Given the description of an element on the screen output the (x, y) to click on. 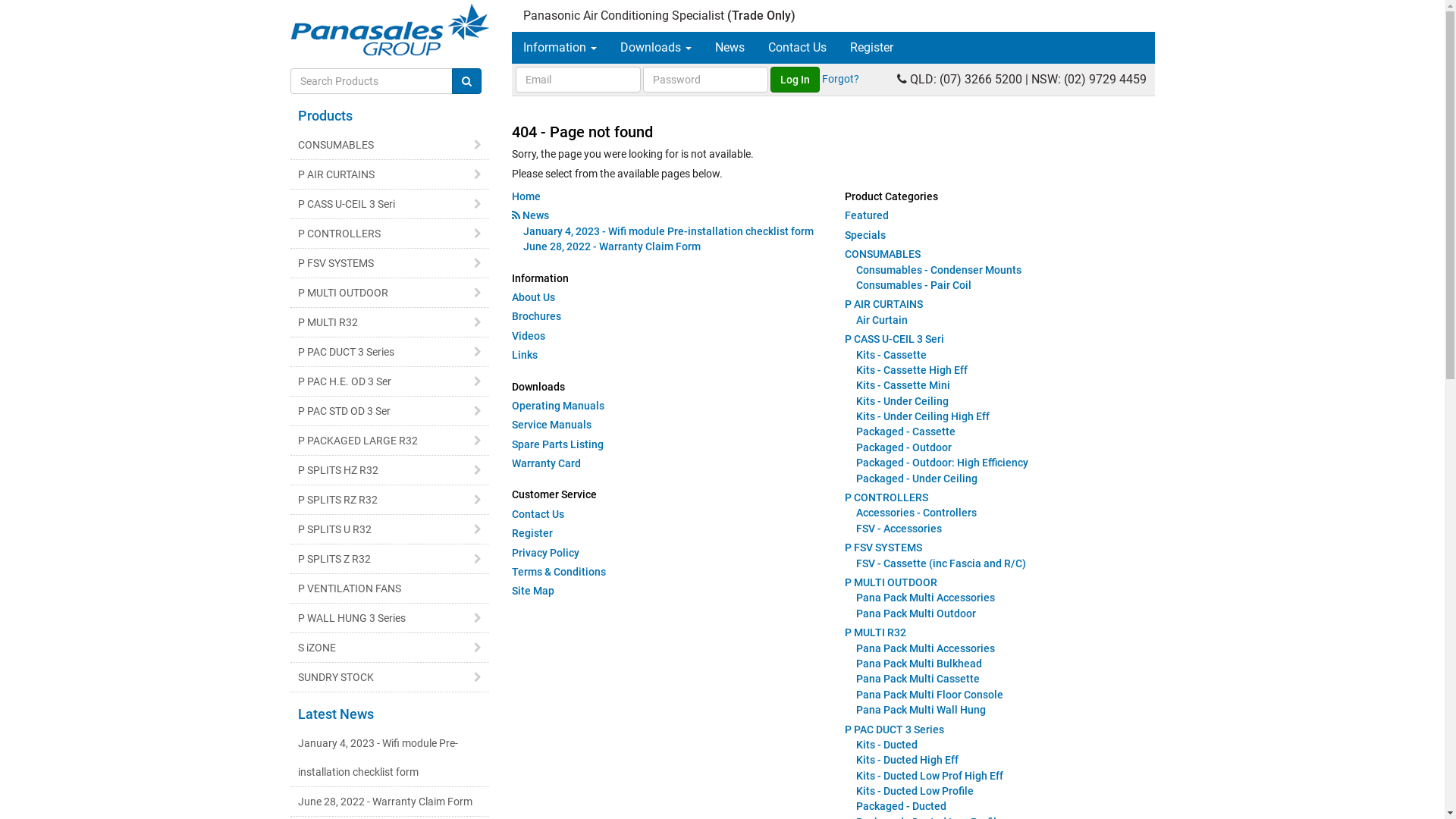
P PAC DUCT 3 Series Element type: text (389, 351)
P SPLITS RZ R32 Element type: text (389, 499)
Register Element type: text (531, 533)
P PAC DUCT 3 Series Element type: text (894, 729)
Kits - Ducted High Eff Element type: text (907, 759)
Home Element type: text (525, 196)
Pana Pack Multi Wall Hung Element type: text (920, 709)
Site Map Element type: text (532, 590)
Featured Element type: text (866, 215)
P MULTI R32 Element type: text (875, 632)
Consumables - Pair Coil Element type: text (913, 285)
Forgot? Element type: text (840, 78)
Kits - Ducted Low Prof High Eff Element type: text (929, 775)
Links Element type: text (524, 354)
P AIR CURTAINS Element type: text (389, 174)
Videos Element type: text (528, 335)
P FSV SYSTEMS Element type: text (389, 262)
P VENTILATION FANS Element type: text (389, 588)
Packaged - Outdoor: High Efficiency Element type: text (942, 462)
P PAC H.E. OD 3 Ser Element type: text (389, 381)
P SPLITS U R32 Element type: text (389, 528)
P MULTI R32 Element type: text (389, 321)
P FSV SYSTEMS Element type: text (883, 547)
Pana Pack Multi Cassette Element type: text (917, 678)
Service Manuals Element type: text (551, 424)
Kits - Under Ceiling Element type: text (902, 401)
S iZONE Element type: text (389, 647)
Latest News Element type: text (335, 713)
Specials Element type: text (864, 235)
Terms & Conditions Element type: text (558, 571)
Go! Element type: text (466, 81)
Information Element type: text (559, 47)
P MULTI OUTDOOR Element type: text (389, 292)
CONSUMABLES Element type: text (882, 253)
Packaged - Ducted Element type: text (901, 806)
P PACKAGED LARGE R32 Element type: text (389, 440)
News Element type: text (535, 215)
Kits - Cassette High Eff Element type: text (911, 370)
Log In Element type: text (794, 79)
P SPLITS Z R32 Element type: text (389, 558)
P CONTROLLERS Element type: text (389, 233)
Accessories - Controllers Element type: text (916, 512)
Pana Pack Multi Bulkhead Element type: text (919, 663)
P CASS U-CEIL 3 Seri Element type: text (389, 203)
Contact Us Element type: text (796, 47)
Packaged - Cassette Element type: text (905, 431)
P SPLITS HZ R32 Element type: text (389, 469)
Operating Manuals Element type: text (557, 405)
Consumables - Condenser Mounts Element type: text (938, 269)
Pana Pack Multi Accessories Element type: text (925, 597)
P WALL HUNG 3 Series Element type: text (389, 617)
June 28, 2022 - Warranty Claim Form Element type: text (389, 801)
Spare Parts Listing Element type: text (557, 444)
FSV - Cassette (inc Fascia and R/C) Element type: text (941, 563)
FSV - Accessories Element type: text (898, 528)
QLD: (07) 3266 5200 Element type: text (966, 79)
P CONTROLLERS Element type: text (886, 497)
Kits - Under Ceiling High Eff Element type: text (922, 416)
P PAC STD OD 3 Ser Element type: text (389, 410)
P CASS U-CEIL 3 Seri Element type: text (894, 338)
Warranty Card Element type: text (545, 463)
Pana Pack Multi Accessories Element type: text (925, 648)
Kits - Ducted Element type: text (886, 744)
Air Curtain Element type: text (881, 319)
Products Element type: text (324, 115)
Packaged - Outdoor Element type: text (903, 447)
Kits - Ducted Low Profile Element type: text (914, 790)
Panasales Group Home Element type: hover (389, 29)
About Us Element type: text (533, 297)
Pana Pack Multi Outdoor Element type: text (915, 613)
Pana Pack Multi Floor Console Element type: text (929, 694)
Kits - Cassette Mini Element type: text (903, 385)
Search Products Element type: hover (466, 81)
Register Element type: text (871, 47)
Privacy Policy Element type: text (545, 552)
Contact Us Element type: text (537, 514)
P MULTI OUTDOOR Element type: text (890, 582)
Packaged - Under Ceiling Element type: text (916, 478)
News Element type: text (729, 47)
Kits - Cassette Element type: text (891, 354)
June 28, 2022 - Warranty Claim Form Element type: text (611, 246)
Downloads Element type: text (655, 47)
P AIR CURTAINS Element type: text (883, 304)
SUNDRY STOCK Element type: text (389, 676)
Brochures Element type: text (536, 316)
NSW: (02) 9729 4459 Element type: text (1088, 79)
CONSUMABLES Element type: text (389, 144)
